Given the description of an element on the screen output the (x, y) to click on. 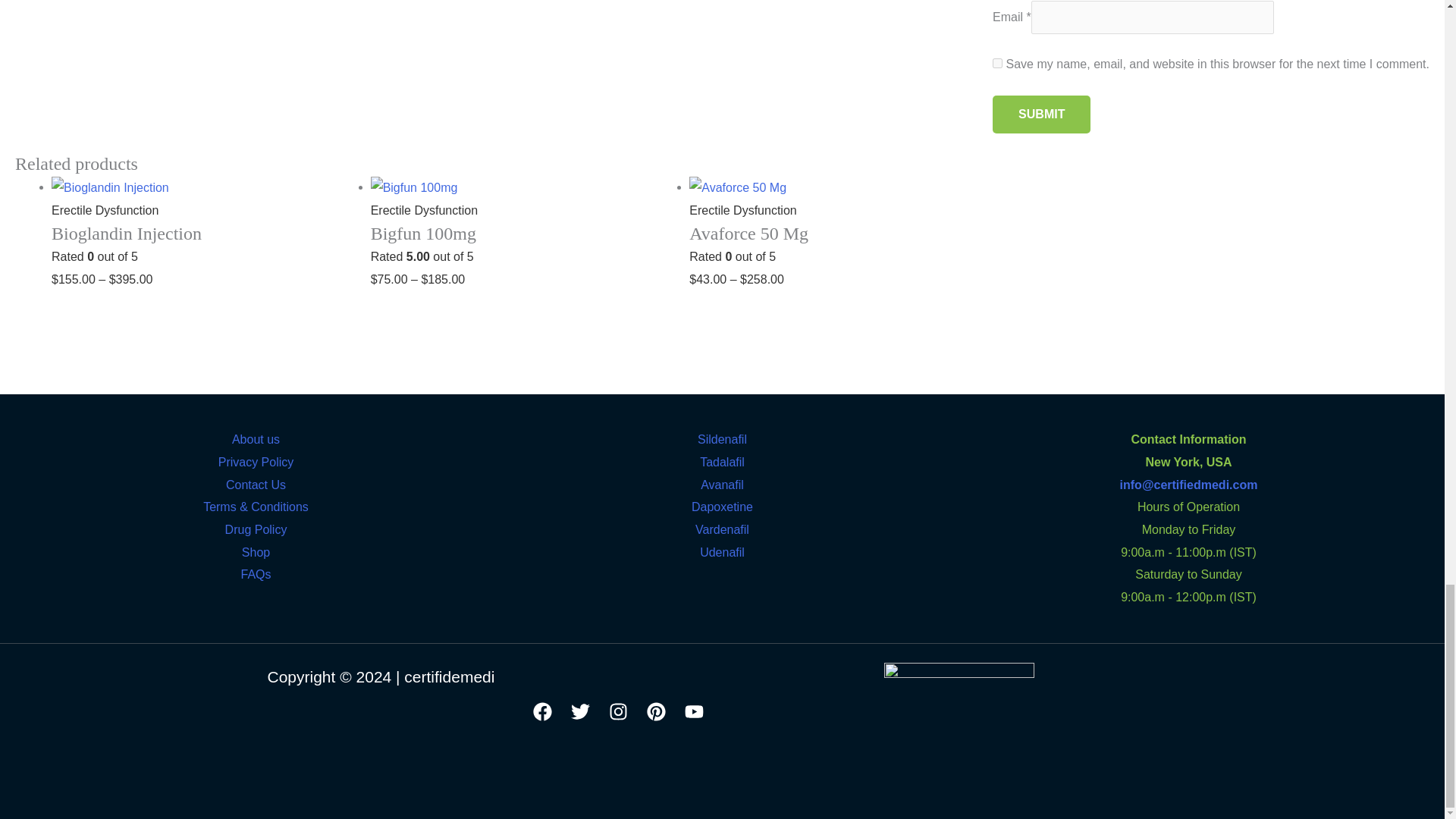
Submit (1041, 114)
Submit (1041, 114)
Bigfun 100mg (523, 242)
yes (997, 62)
Bioglandin Injection (202, 242)
